Given the description of an element on the screen output the (x, y) to click on. 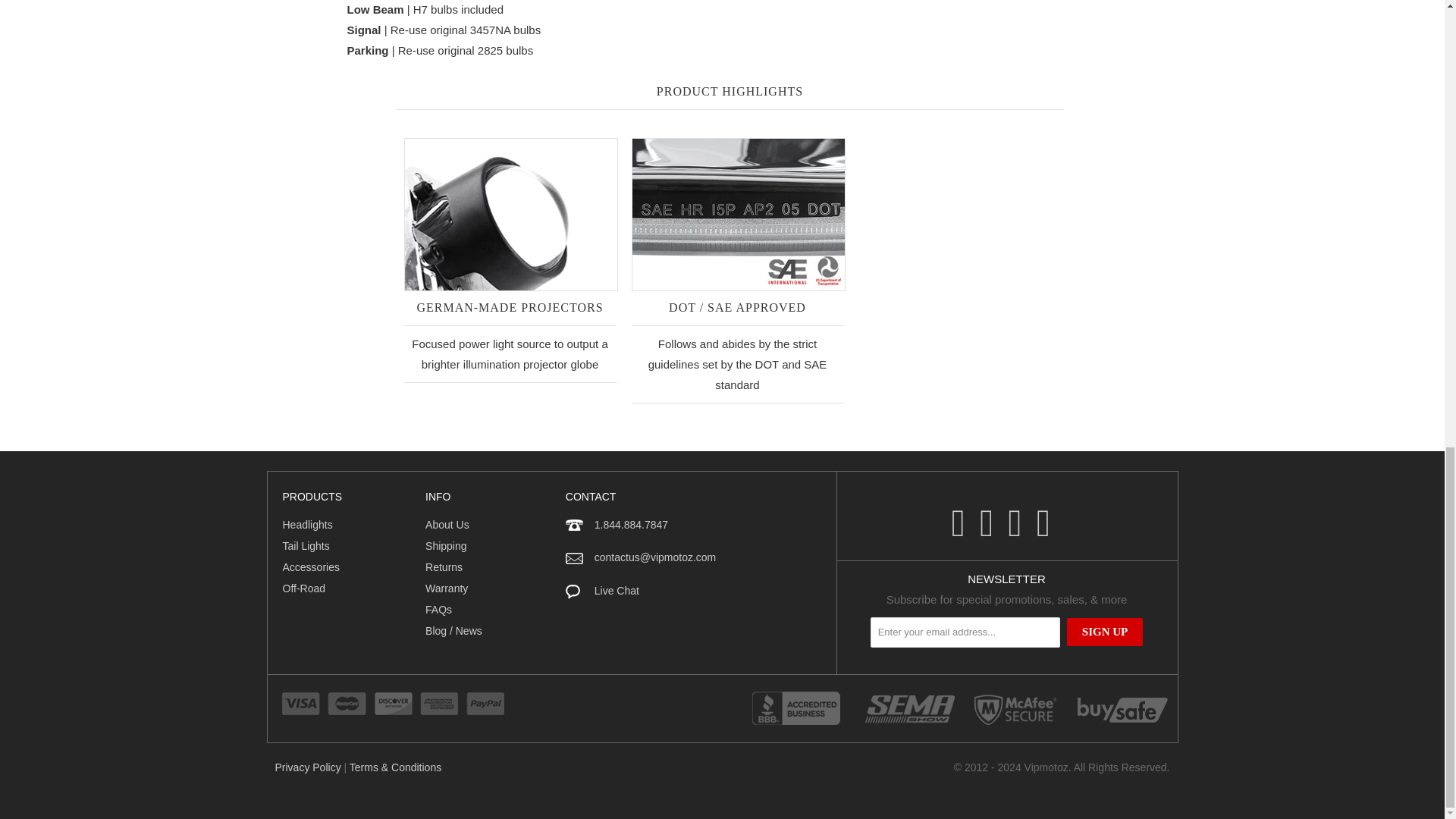
Sign Up (1104, 632)
